Given the description of an element on the screen output the (x, y) to click on. 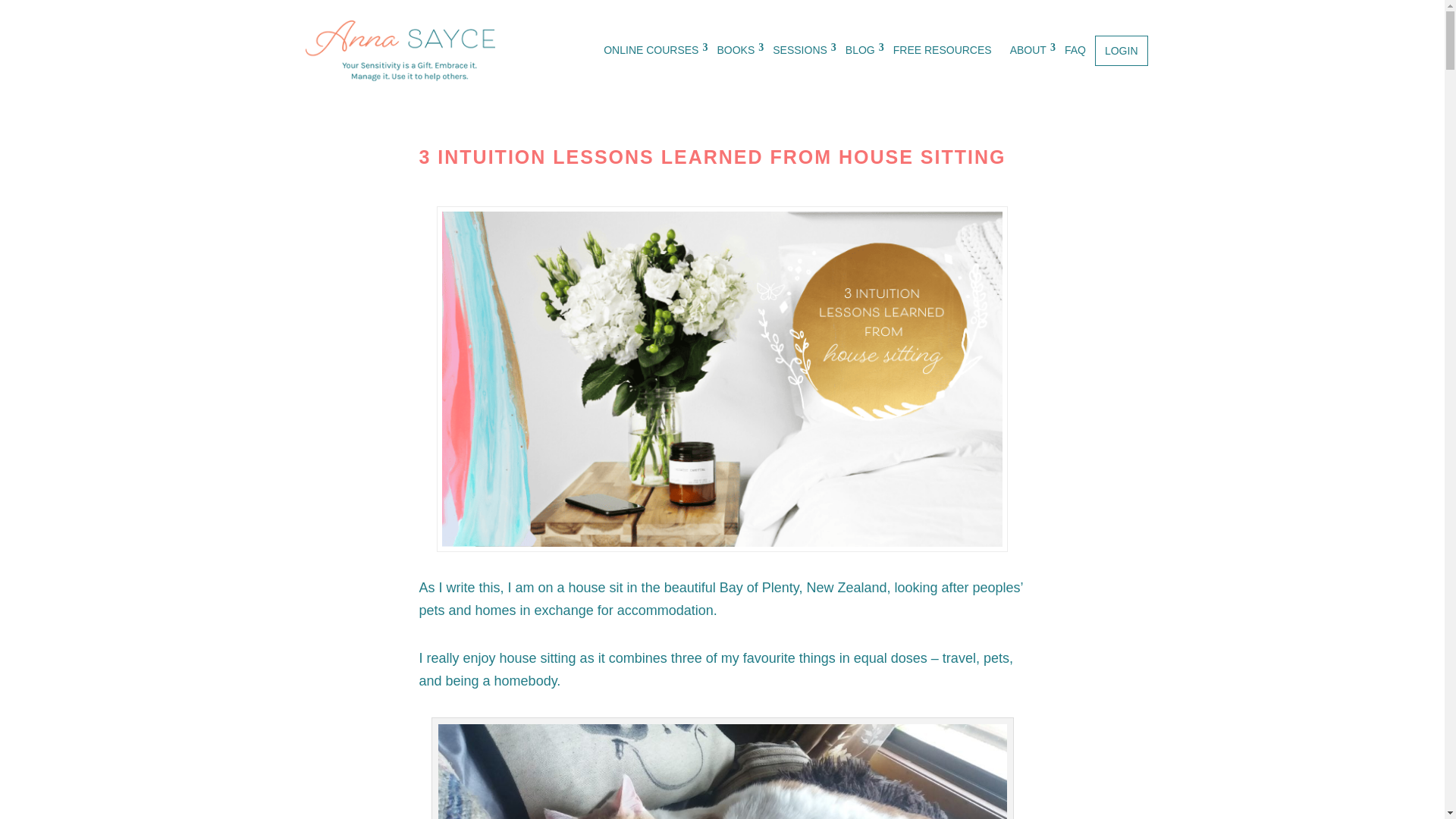
BOOKS (734, 51)
FREE RESOURCES (942, 51)
LOGIN (1121, 51)
BLOG (859, 51)
SESSIONS (798, 51)
FAQ (1074, 51)
ONLINE COURSES (650, 51)
ABOUT (1028, 51)
